Given the description of an element on the screen output the (x, y) to click on. 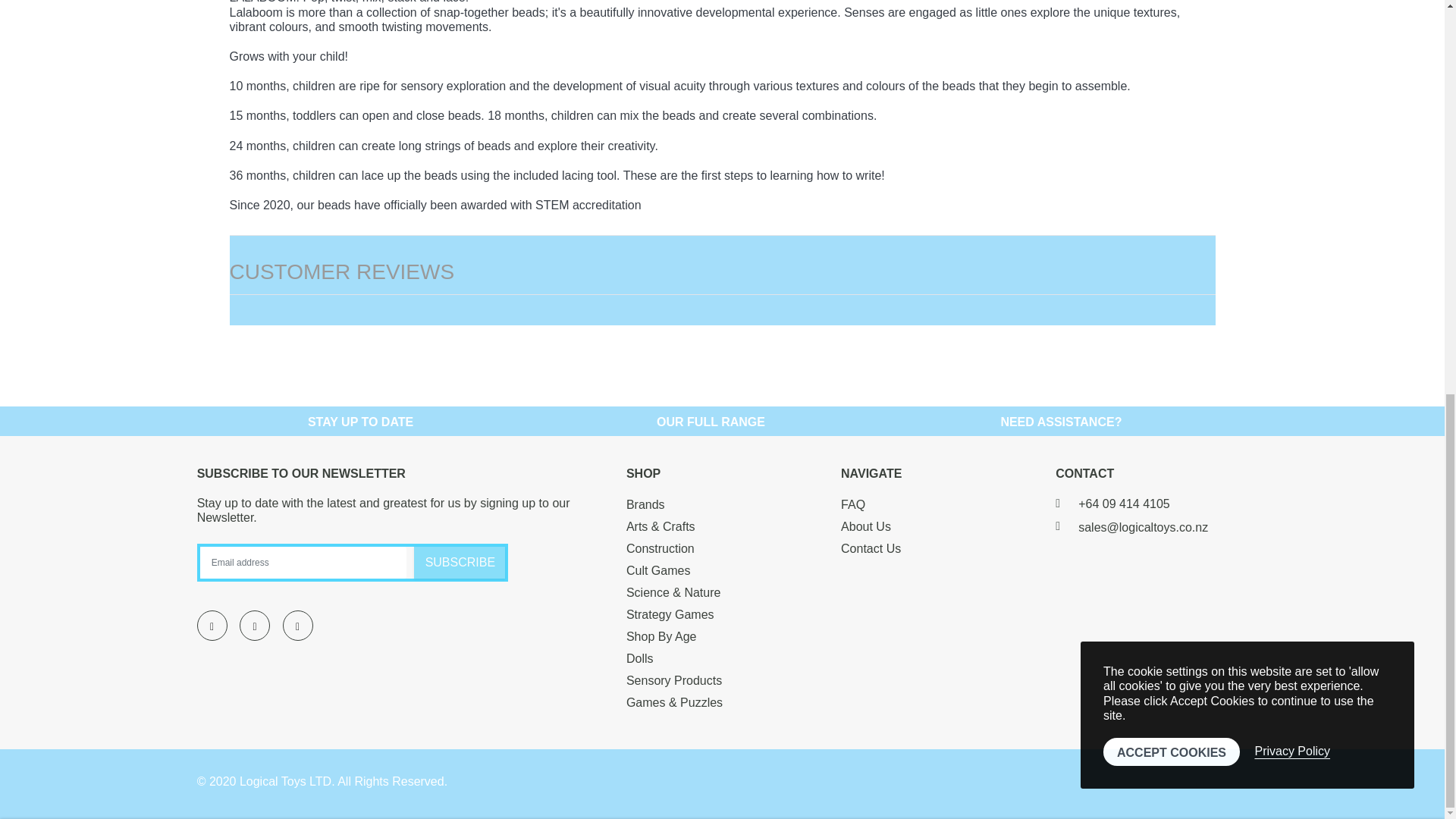
Twitter (254, 625)
Subscribe (459, 562)
Instagram (297, 625)
1 (745, 87)
Facebook (211, 625)
Add to cart (1171, 87)
